Given the description of an element on the screen output the (x, y) to click on. 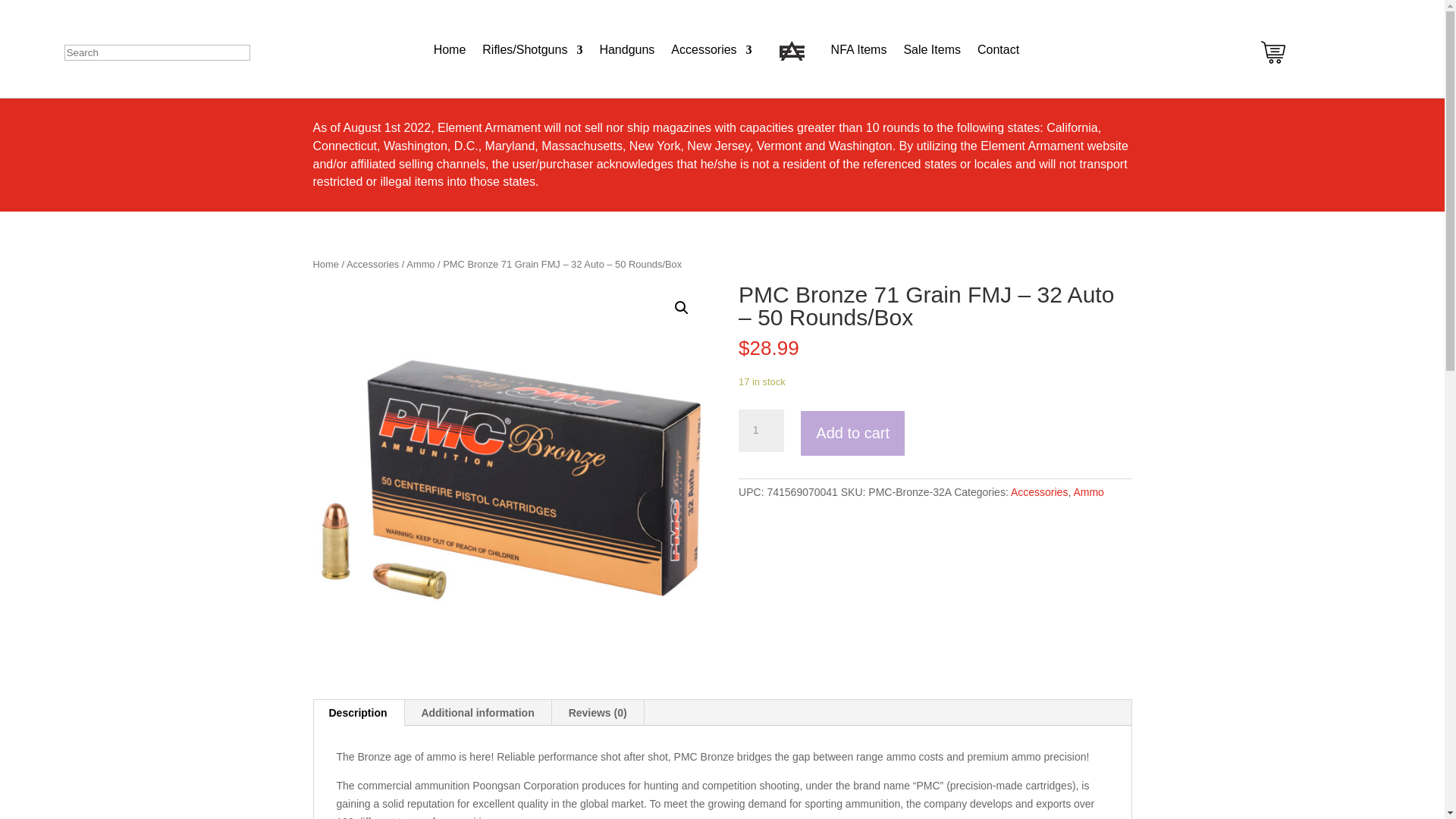
Sale Items (931, 49)
Handguns (625, 49)
Accessories (711, 49)
NFA Items (858, 49)
1 (761, 430)
